Given the description of an element on the screen output the (x, y) to click on. 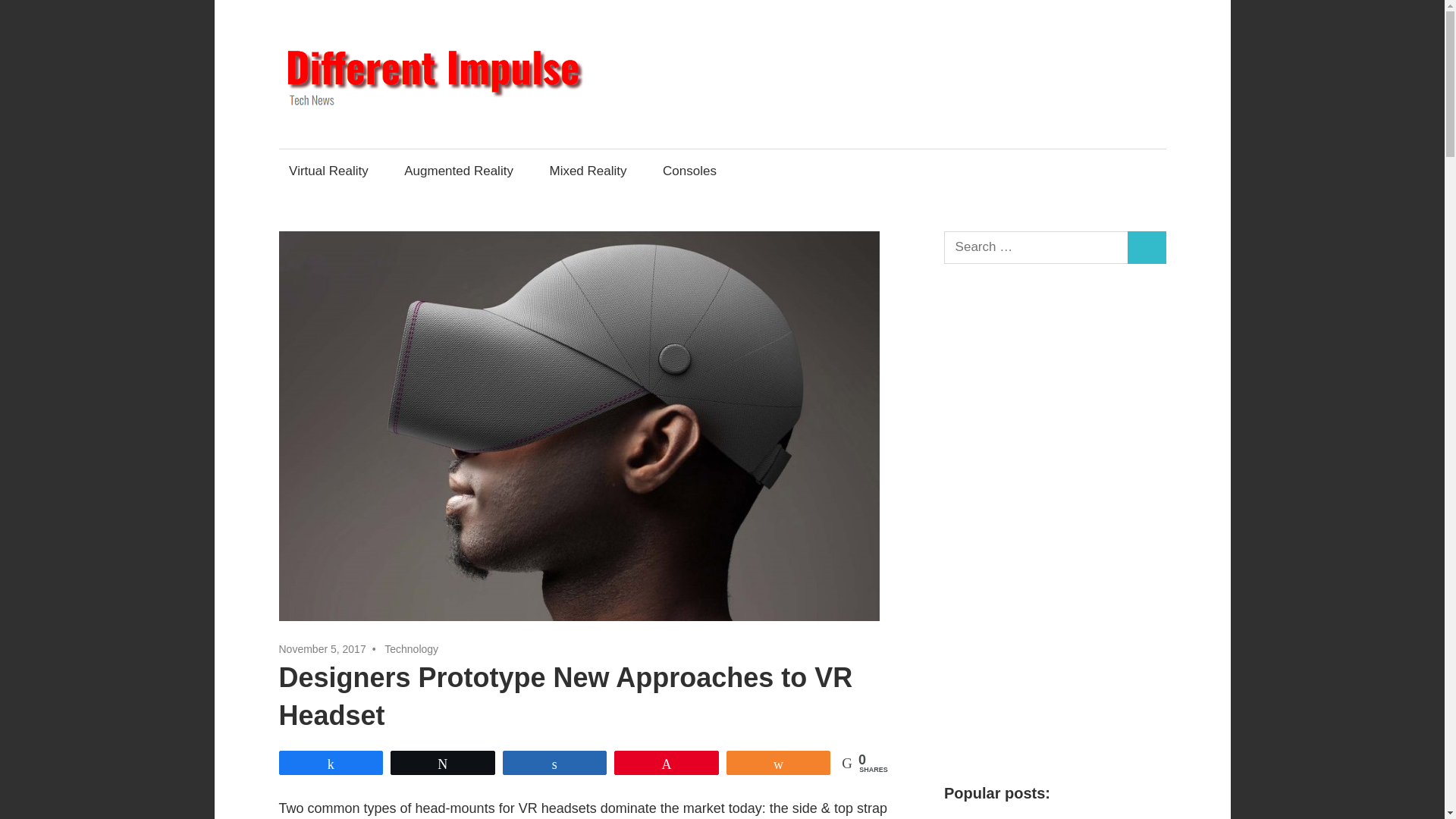
Mixed Reality (587, 170)
Consoles (693, 170)
November 5, 2017 (322, 648)
Search (1146, 246)
Virtual Reality (328, 170)
Augmented Reality (459, 170)
Search for: (1035, 246)
Technology (411, 648)
12:05 (322, 648)
